Given the description of an element on the screen output the (x, y) to click on. 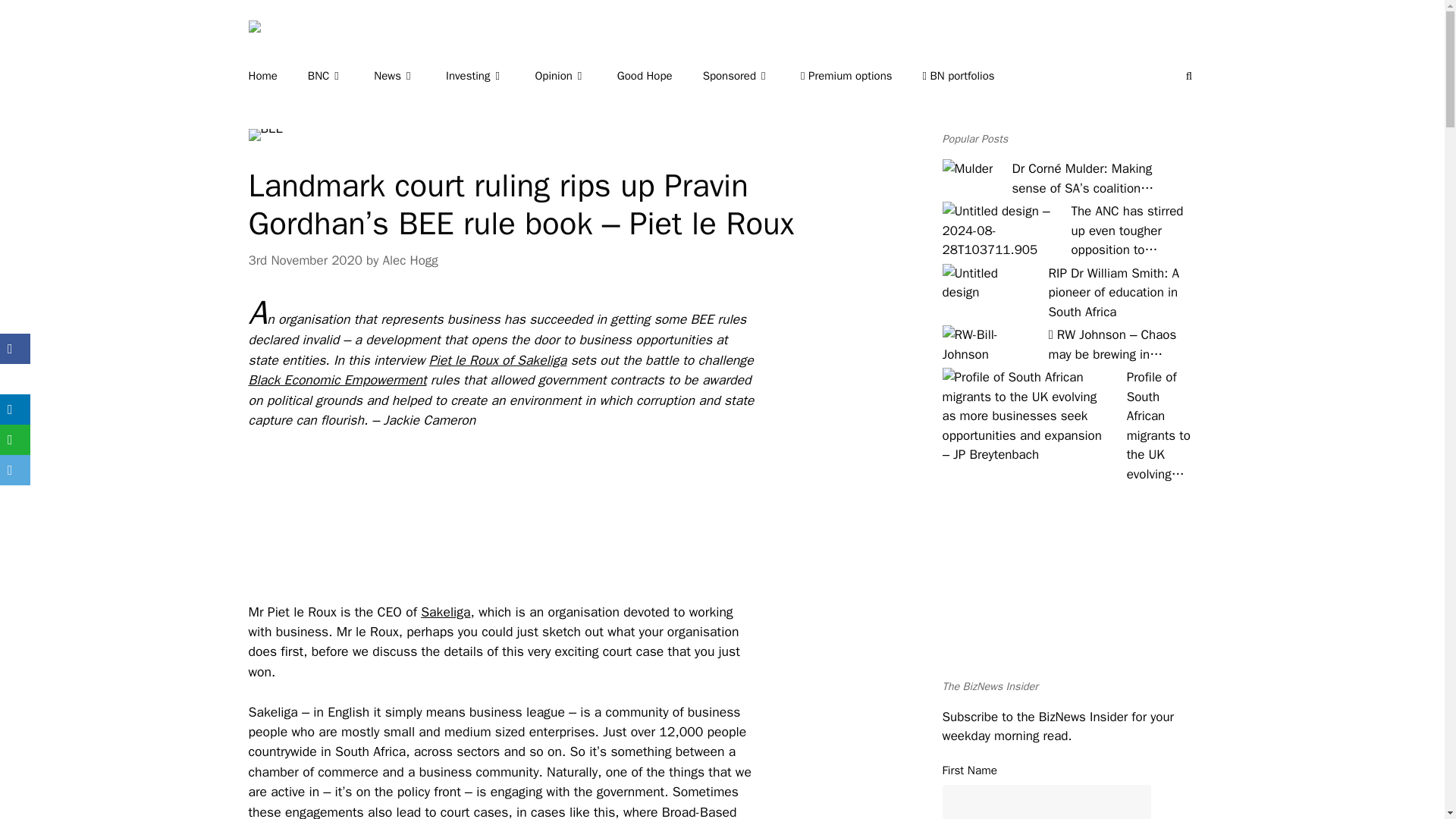
Spotify Embed: BizNews Radio (1068, 592)
Alec Hogg (409, 260)
View all posts by Alec Hogg (409, 260)
News (409, 75)
Black Economic Empowerment (337, 379)
Home (277, 75)
Sponsored (751, 75)
Good Hope (660, 75)
Piet le Roux of Sakeliga (498, 360)
Opinion (574, 75)
